Given the description of an element on the screen output the (x, y) to click on. 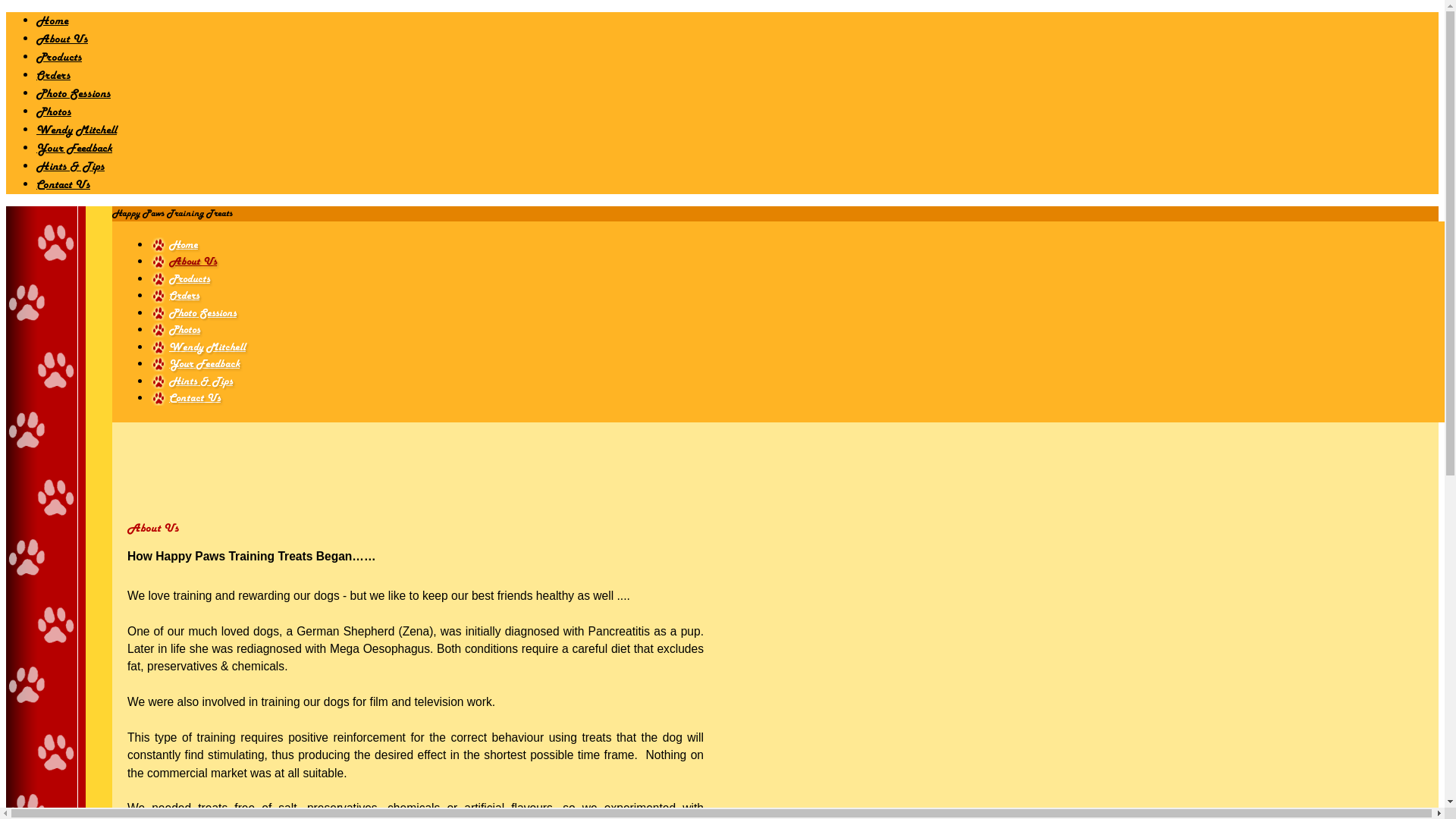
Orders Element type: text (174, 295)
Contact Us Element type: text (185, 397)
Photo Sessions Element type: text (73, 93)
Photos Element type: text (53, 111)
About Us Element type: text (61, 39)
Your Feedback Element type: text (194, 363)
Hints & Tips Element type: text (70, 166)
Your Feedback Element type: text (74, 148)
Products Element type: text (180, 278)
Wendy Mitchell Element type: text (76, 130)
Photos Element type: text (175, 329)
Home Element type: text (52, 20)
Home Element type: text (173, 243)
Hints & Tips Element type: text (191, 380)
Products Element type: text (58, 57)
Contact Us Element type: text (63, 184)
About Us Element type: text (183, 261)
Photo Sessions Element type: text (193, 312)
Wendy Mitchell Element type: text (197, 346)
Orders Element type: text (53, 75)
